Given the description of an element on the screen output the (x, y) to click on. 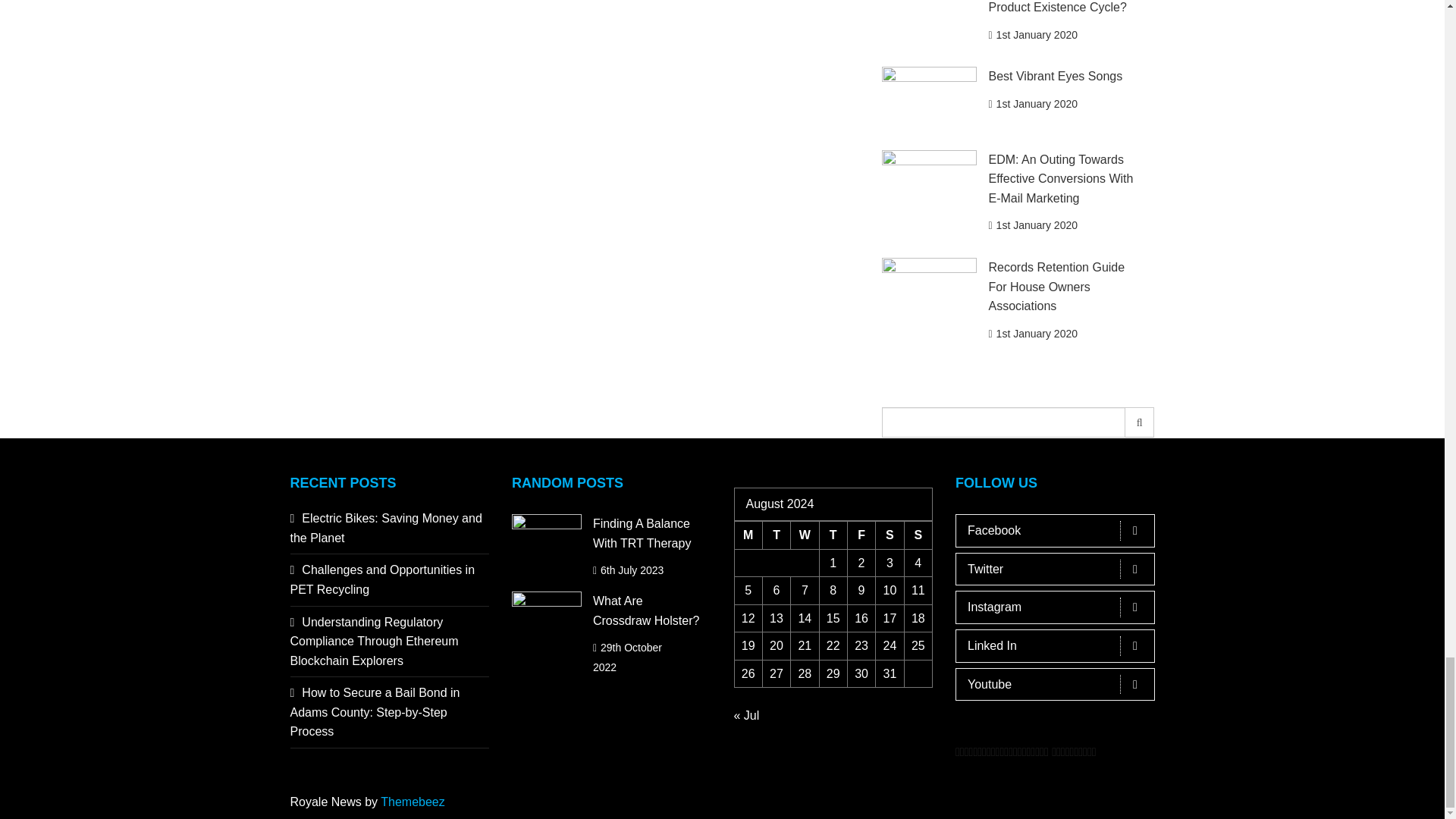
Tuesday (775, 534)
Wednesday (804, 534)
Monday (747, 534)
Thursday (832, 534)
Friday (861, 534)
Saturday (890, 534)
Sunday (917, 534)
